Given the description of an element on the screen output the (x, y) to click on. 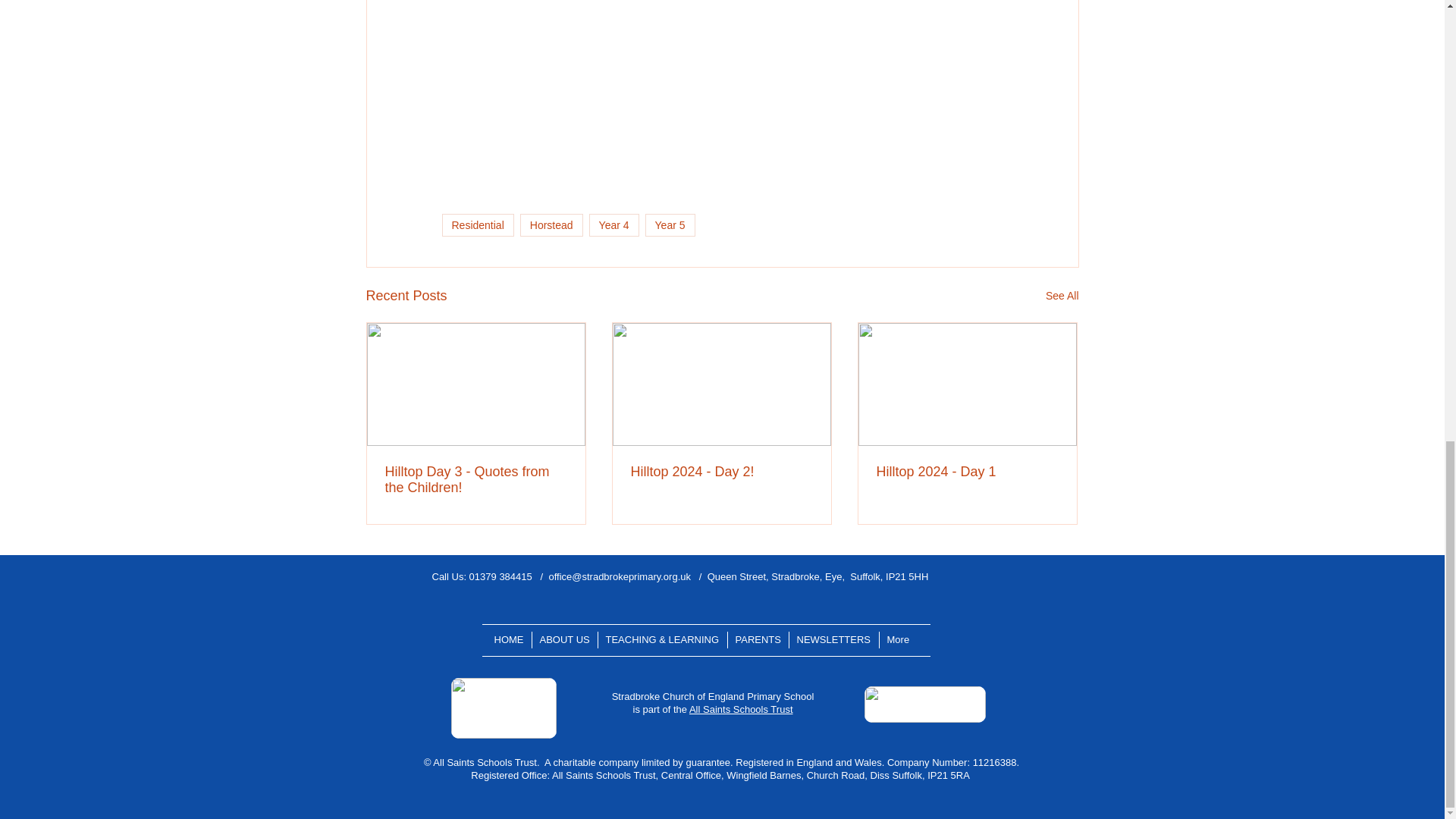
Hilltop Day 3 - Quotes from the Children! (476, 480)
See All (1061, 296)
Year 4 (614, 224)
Horstead (551, 224)
Hilltop 2024 - Day 2! (721, 471)
Hilltop 2024 - Day 1 (967, 471)
Residential (477, 224)
Year 5 (670, 224)
